Given the description of an element on the screen output the (x, y) to click on. 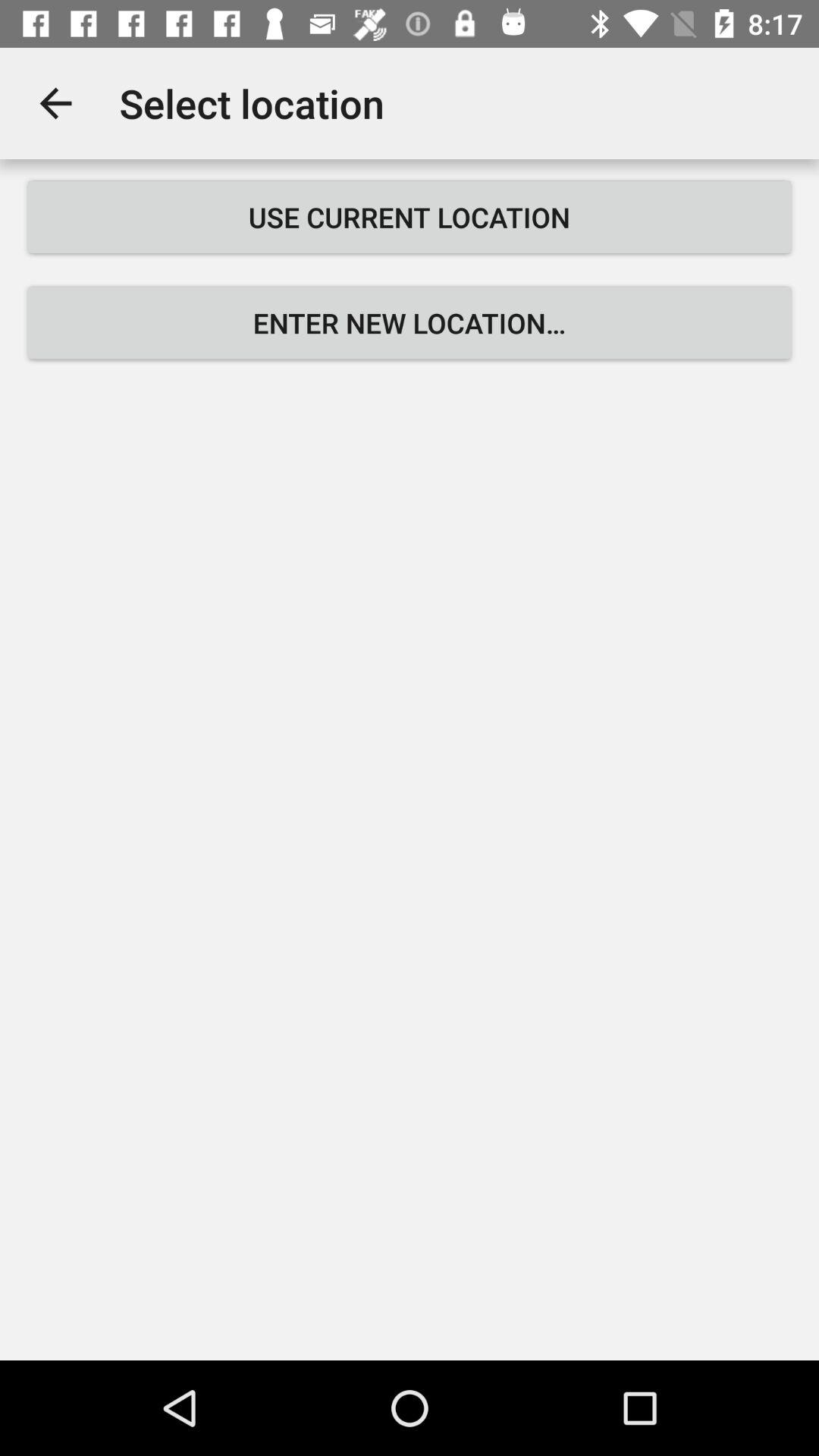
turn on the use current location icon (409, 217)
